Given the description of an element on the screen output the (x, y) to click on. 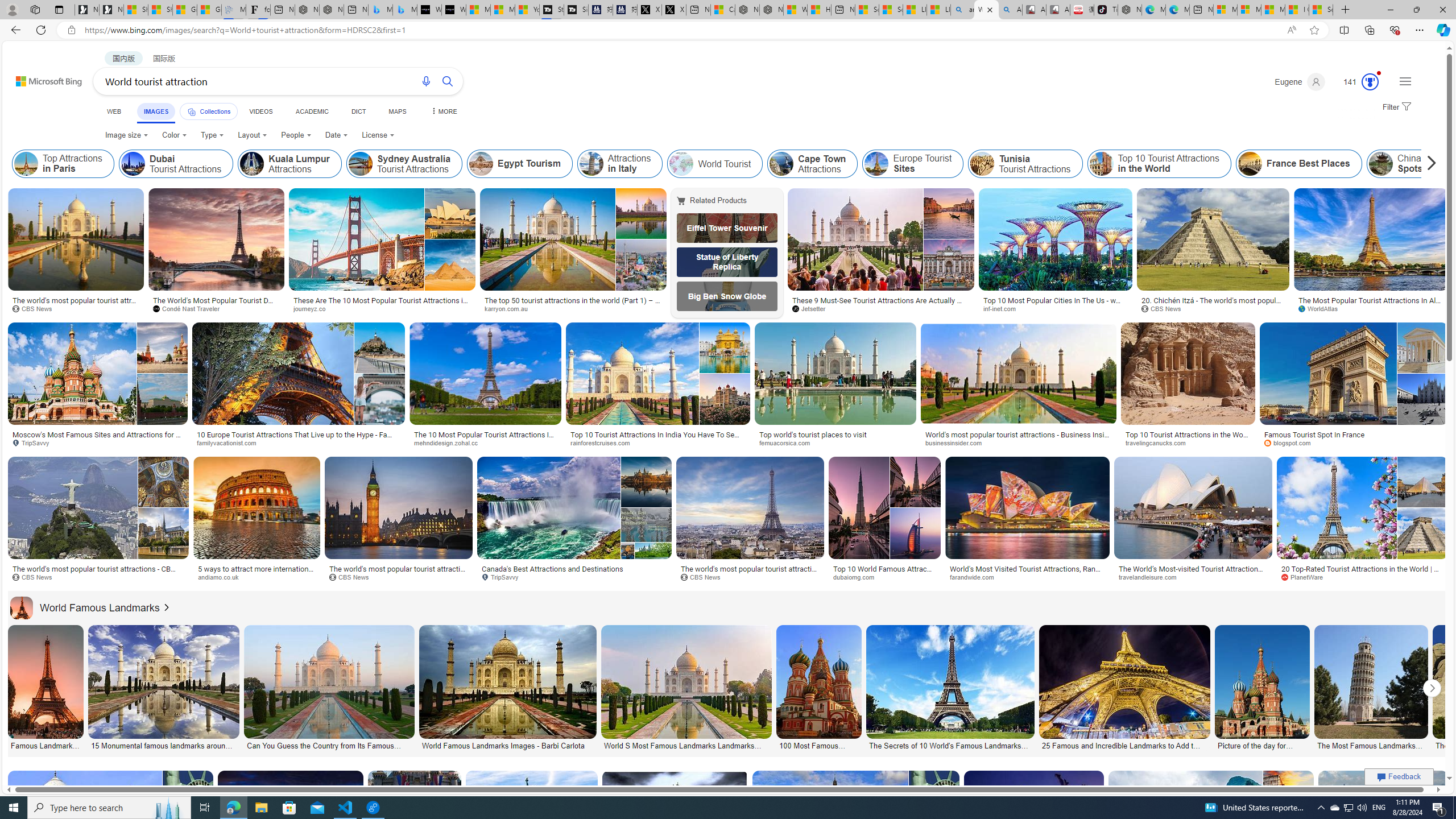
CBS News (704, 576)
Amazon Echo Robot - Search Images (1009, 9)
businessinsider.com (1019, 442)
People (295, 135)
China Tourist Spots (1380, 163)
MAPS (397, 111)
World Famous Landmarks Images - Barbi Carlota (506, 744)
